Given the description of an element on the screen output the (x, y) to click on. 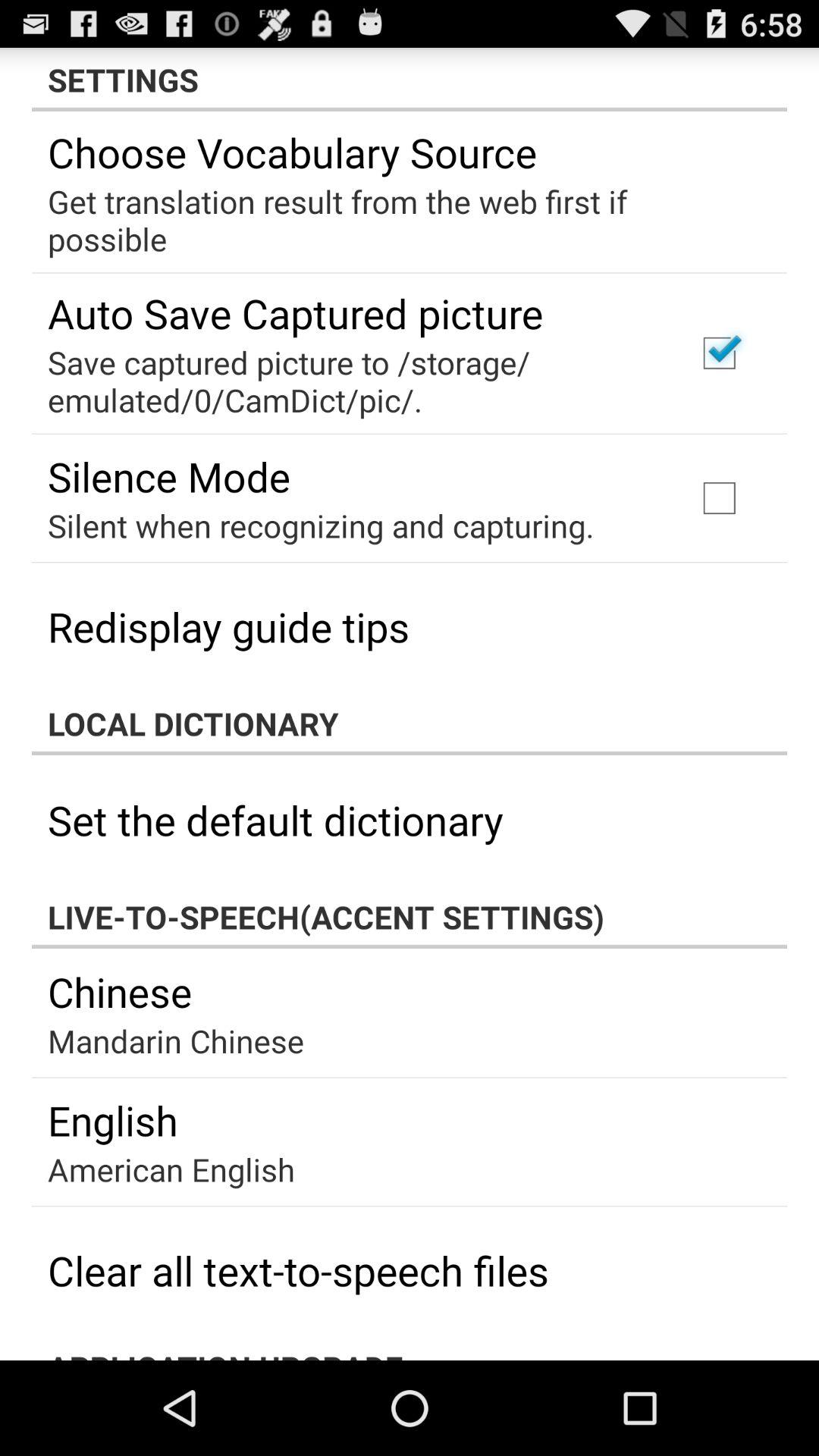
open the item below the local dictionary app (275, 819)
